Given the description of an element on the screen output the (x, y) to click on. 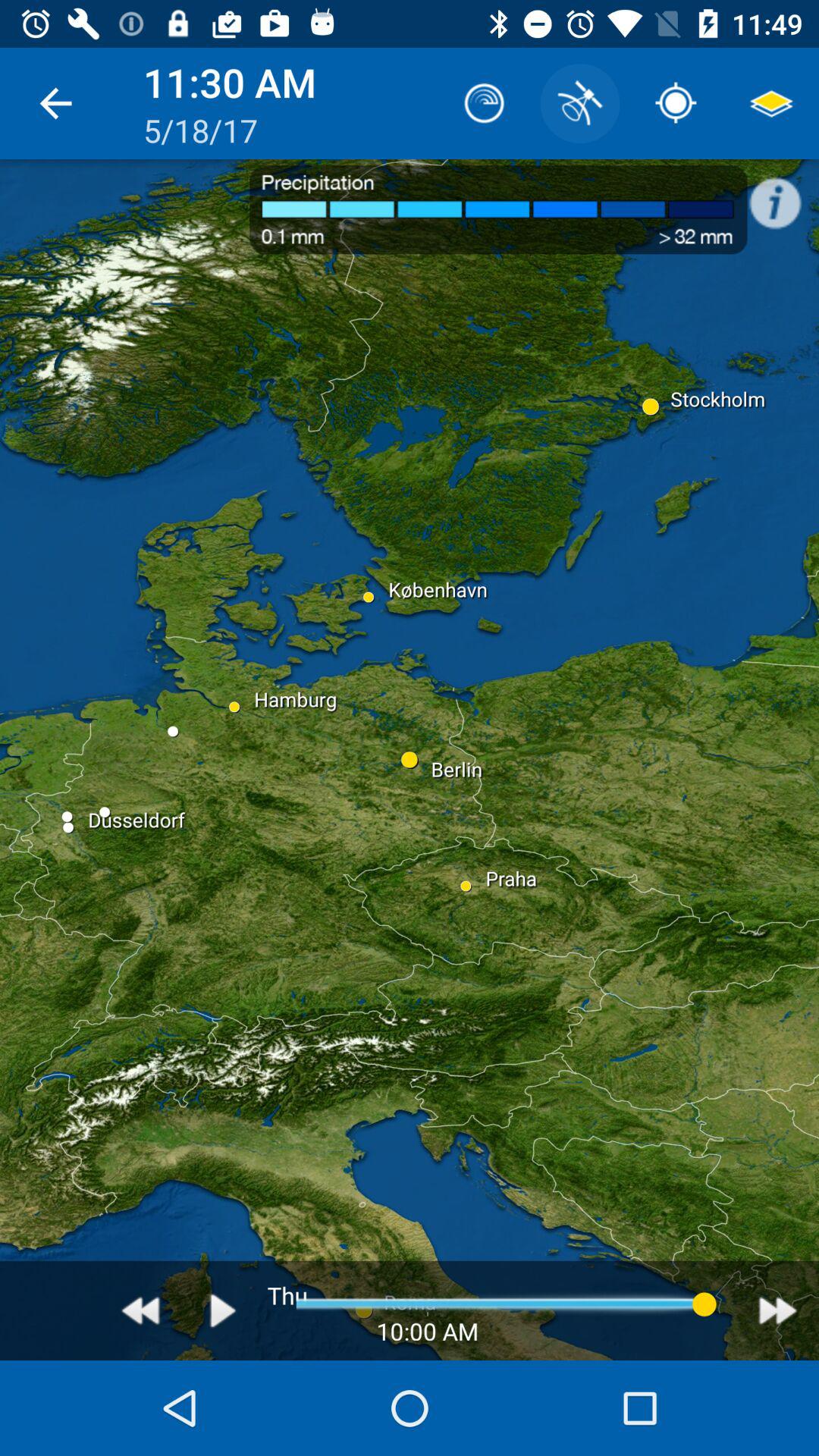
toggle play/pause (223, 1310)
